Given the description of an element on the screen output the (x, y) to click on. 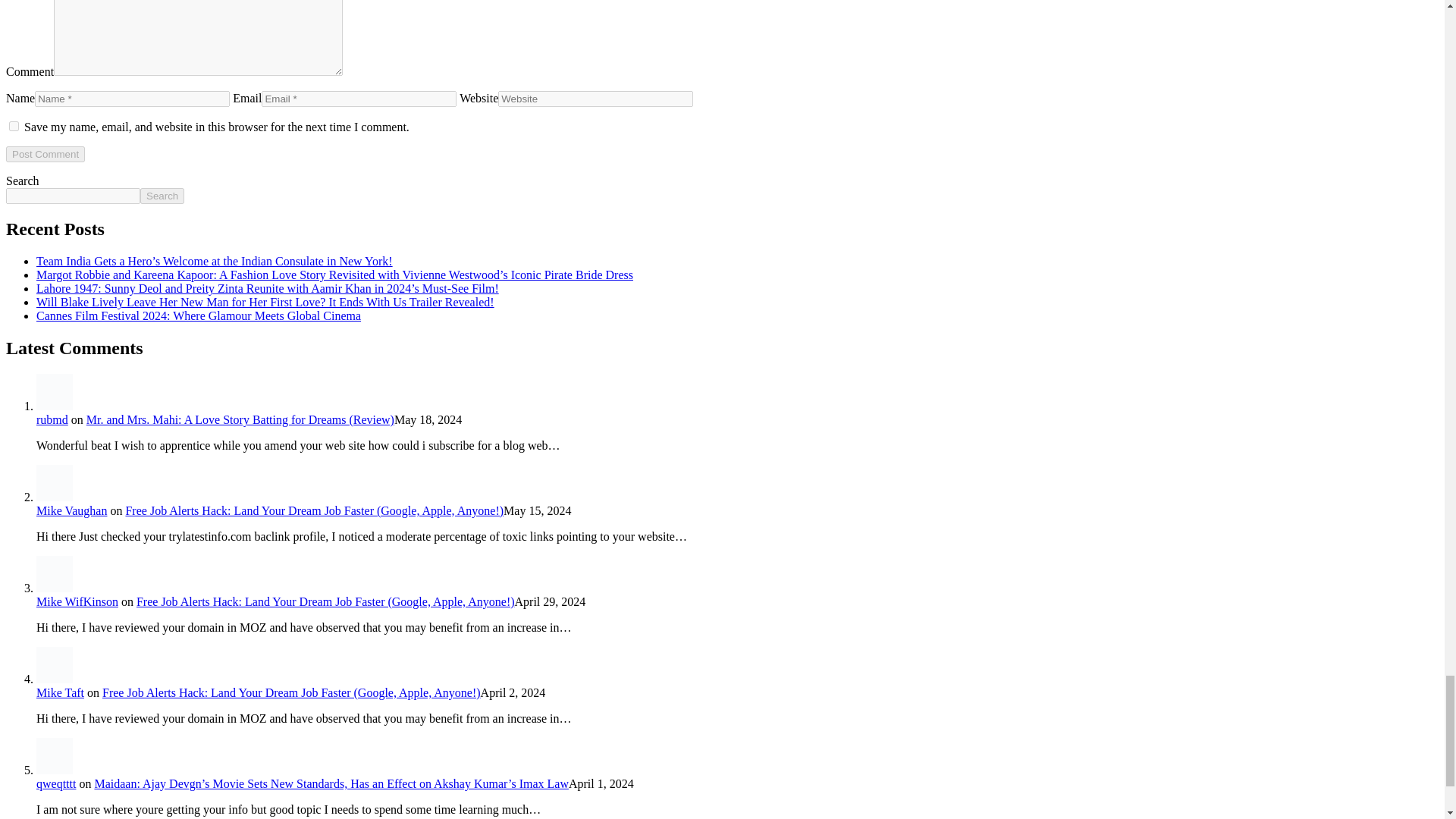
yes (13, 126)
Post Comment (44, 154)
